Given the description of an element on the screen output the (x, y) to click on. 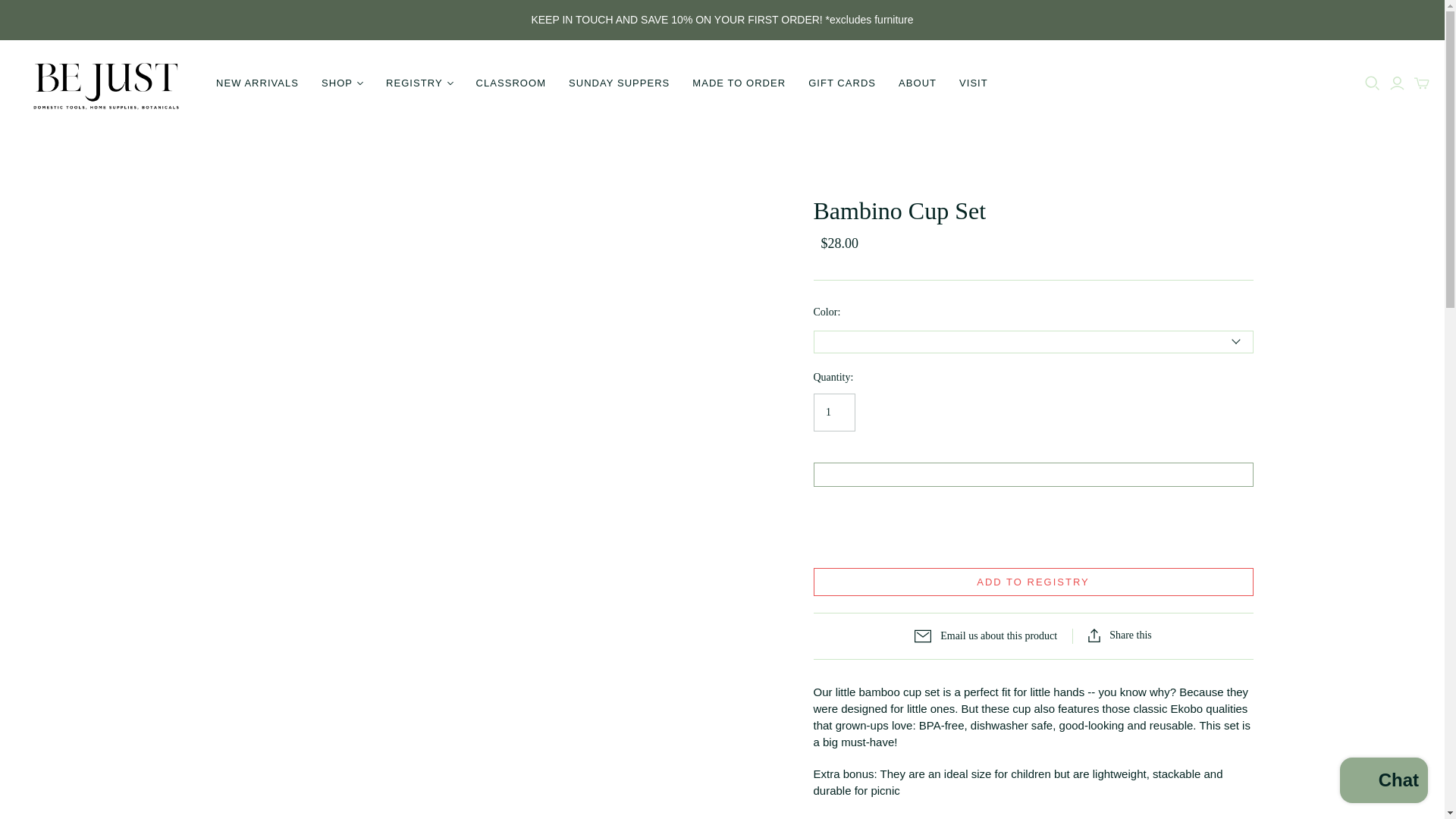
Add to Registry (1032, 582)
GIFT CARDS (841, 83)
1 (833, 412)
VISIT (972, 83)
SUNDAY SUPPERS (619, 83)
CLASSROOM (510, 83)
SHOP (342, 83)
REGISTRY (419, 83)
ABOUT (916, 83)
Shopify online store chat (1383, 781)
